Given the description of an element on the screen output the (x, y) to click on. 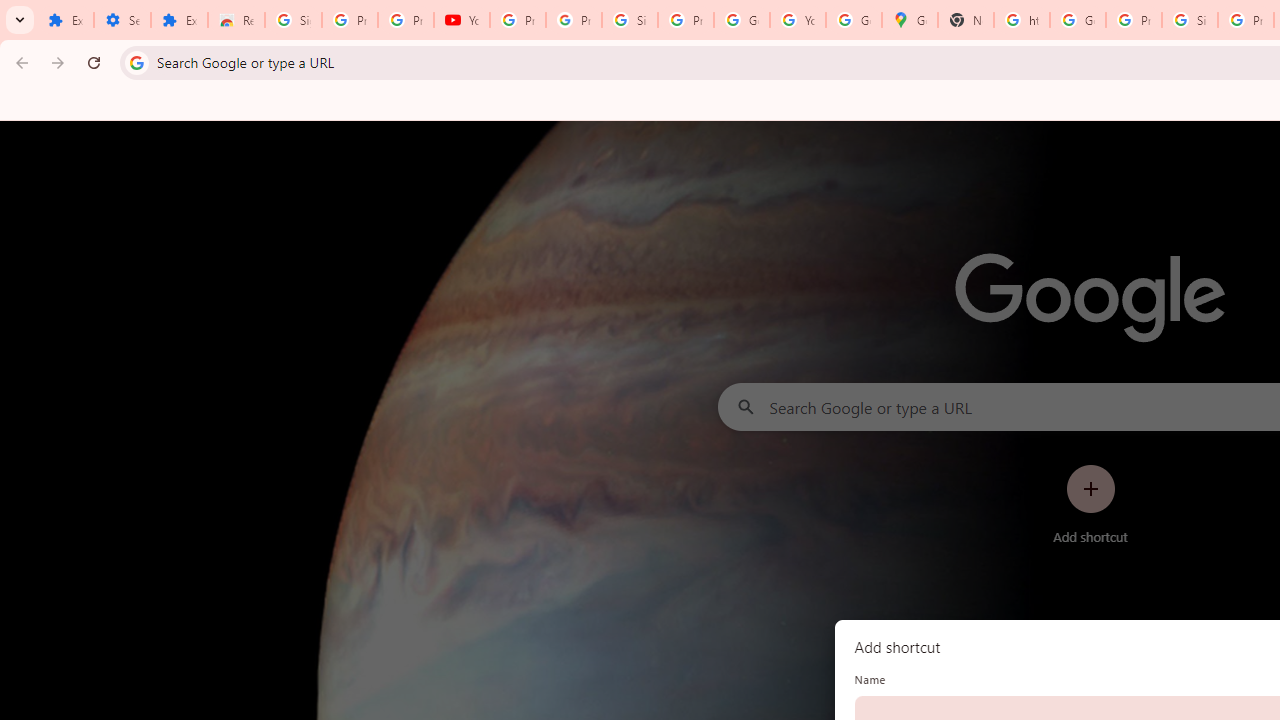
Sign in - Google Accounts (293, 20)
YouTube (461, 20)
Sign in - Google Accounts (1190, 20)
Extensions (65, 20)
YouTube (797, 20)
New Tab (966, 20)
